Given the description of an element on the screen output the (x, y) to click on. 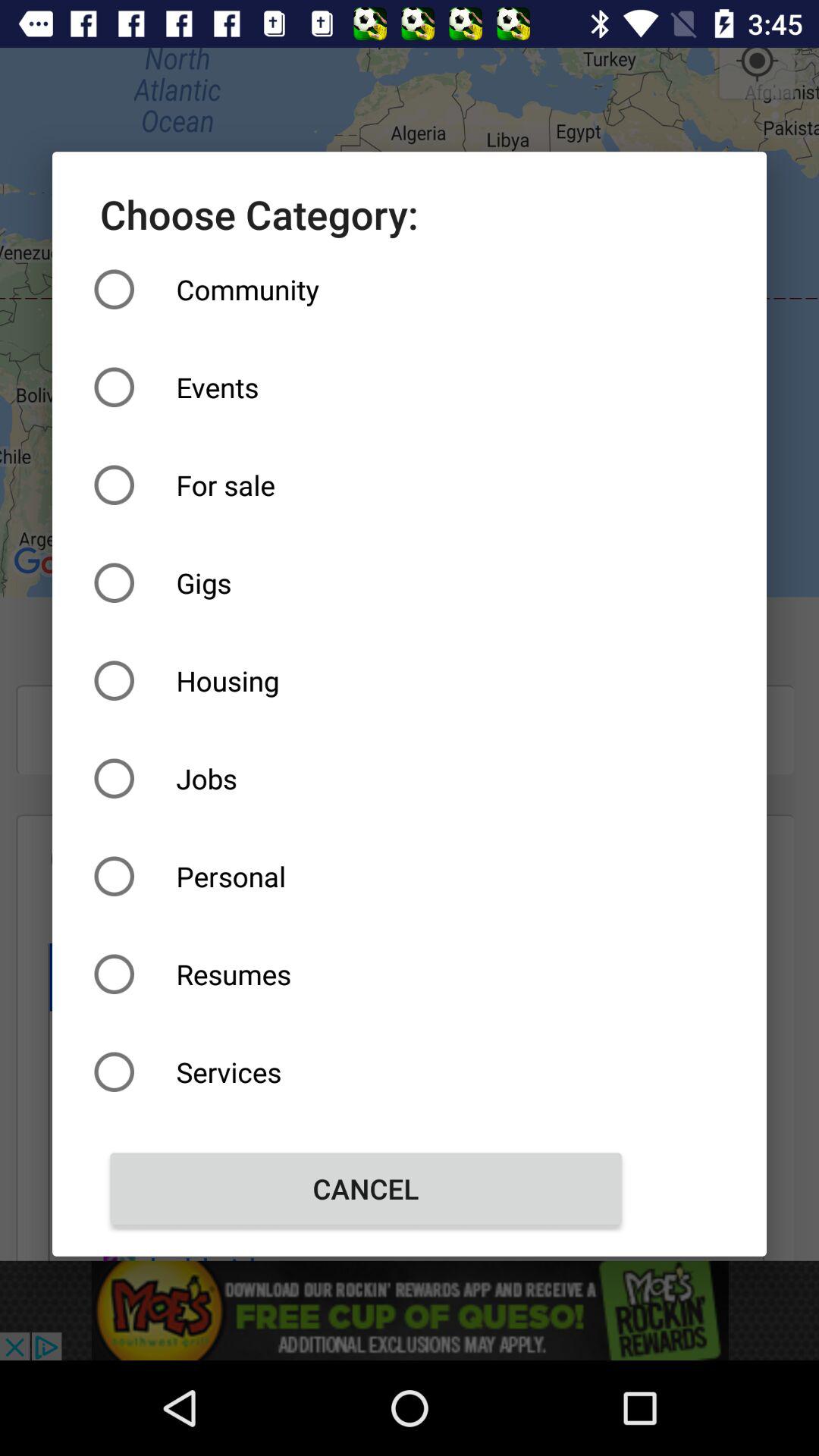
select the icon below services (365, 1188)
